Given the description of an element on the screen output the (x, y) to click on. 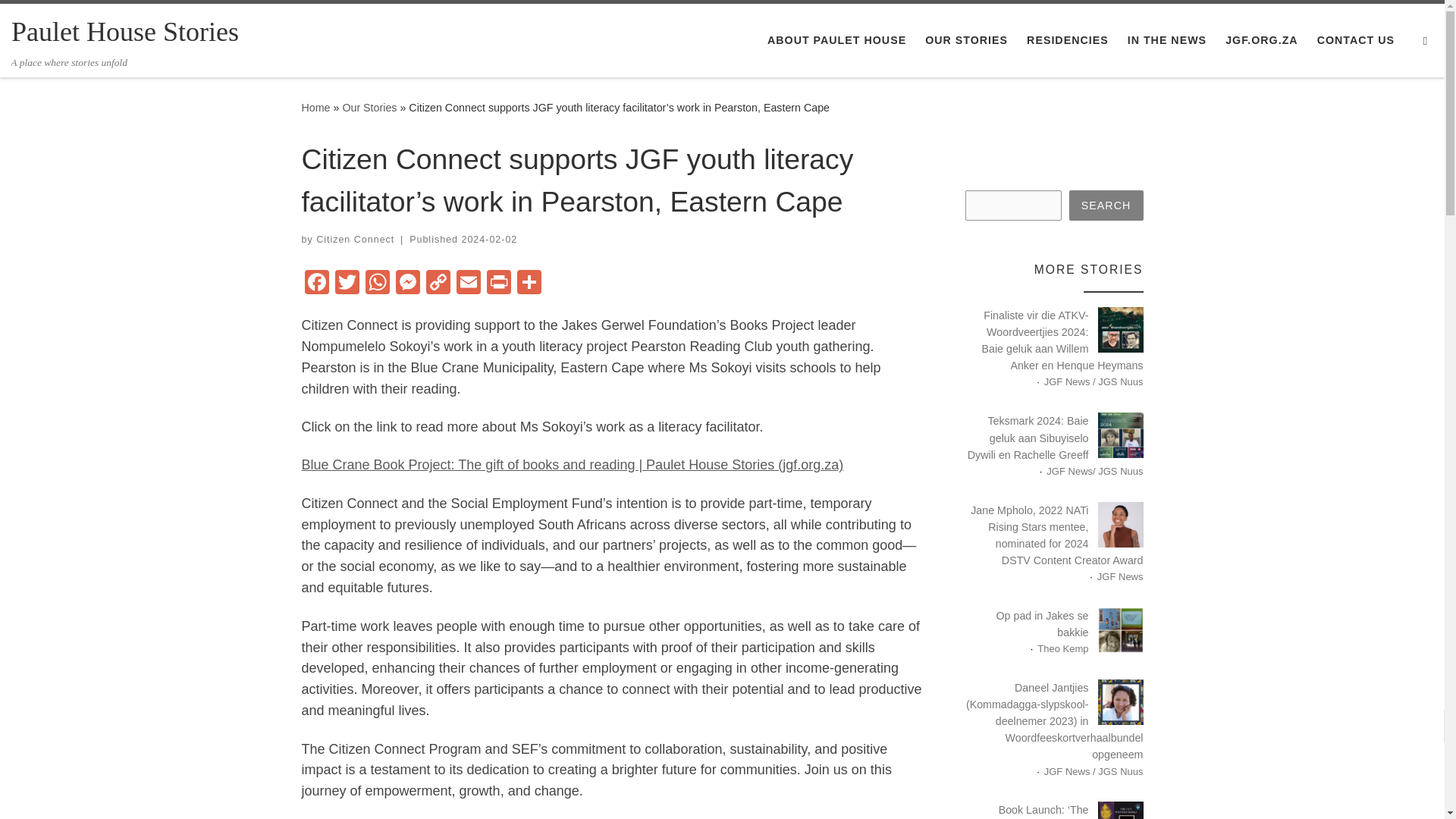
Twitter (346, 284)
CONTACT US (1355, 40)
Copy Link (437, 284)
2024-02-02 (488, 239)
Paulet House Stories (124, 31)
PrintFriendly (498, 284)
Skip to content (60, 20)
Copy Link (437, 284)
RESIDENCIES (1067, 40)
View all posts by Citizen Connect (354, 239)
